Given the description of an element on the screen output the (x, y) to click on. 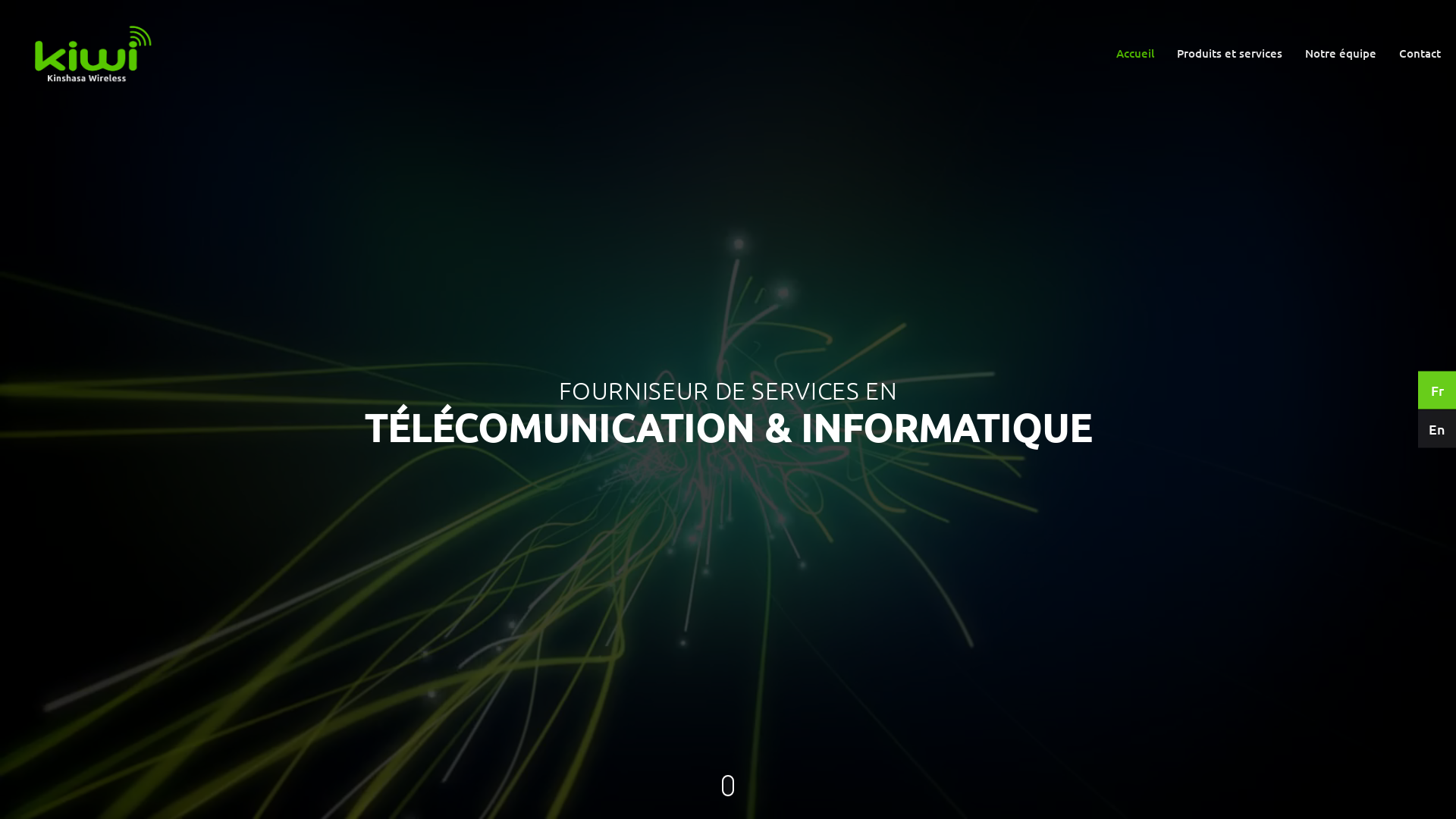
KIWI SARL Element type: hover (90, 54)
Accueil Element type: text (1135, 54)
Produits et services Element type: text (1229, 54)
Contact Element type: text (1419, 54)
